Given the description of an element on the screen output the (x, y) to click on. 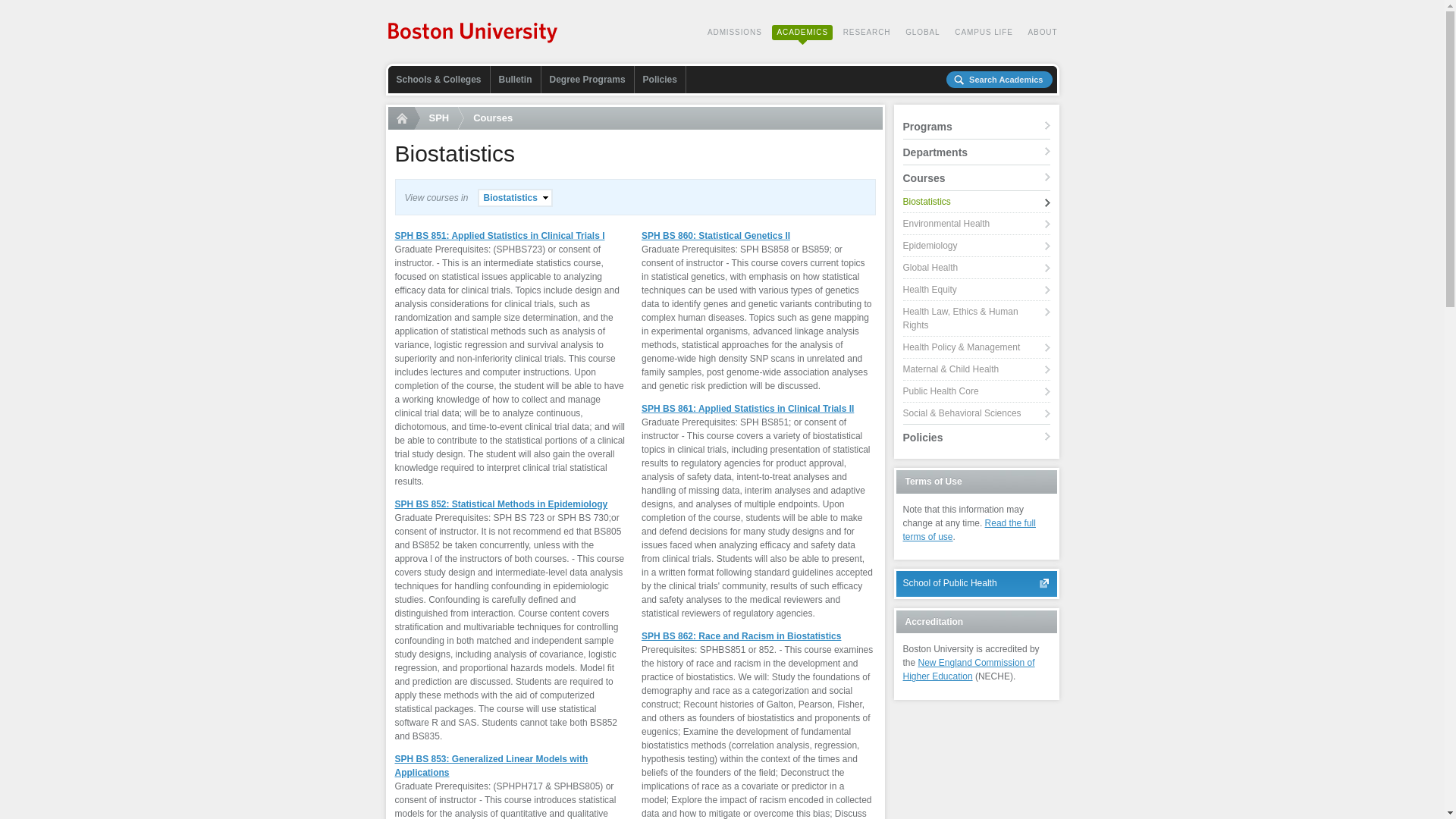
Biostatistics (515, 197)
ADMISSIONS (735, 32)
Bulletin (515, 79)
SPH (439, 118)
SPH BS 861: Applied Statistics in Clinical Trials II (747, 408)
CAMPUS LIFE (983, 32)
Courses (489, 118)
Home (404, 118)
SPH BS 852: Statistical Methods in Epidemiology (500, 503)
ABOUT (1042, 32)
SPH BS 862: Race and Racism in Biostatistics (741, 635)
SPH BS 860: Statistical Genetics II (716, 235)
RESEARCH (866, 32)
Degree Programs (587, 79)
Boston University Academics (473, 33)
